Given the description of an element on the screen output the (x, y) to click on. 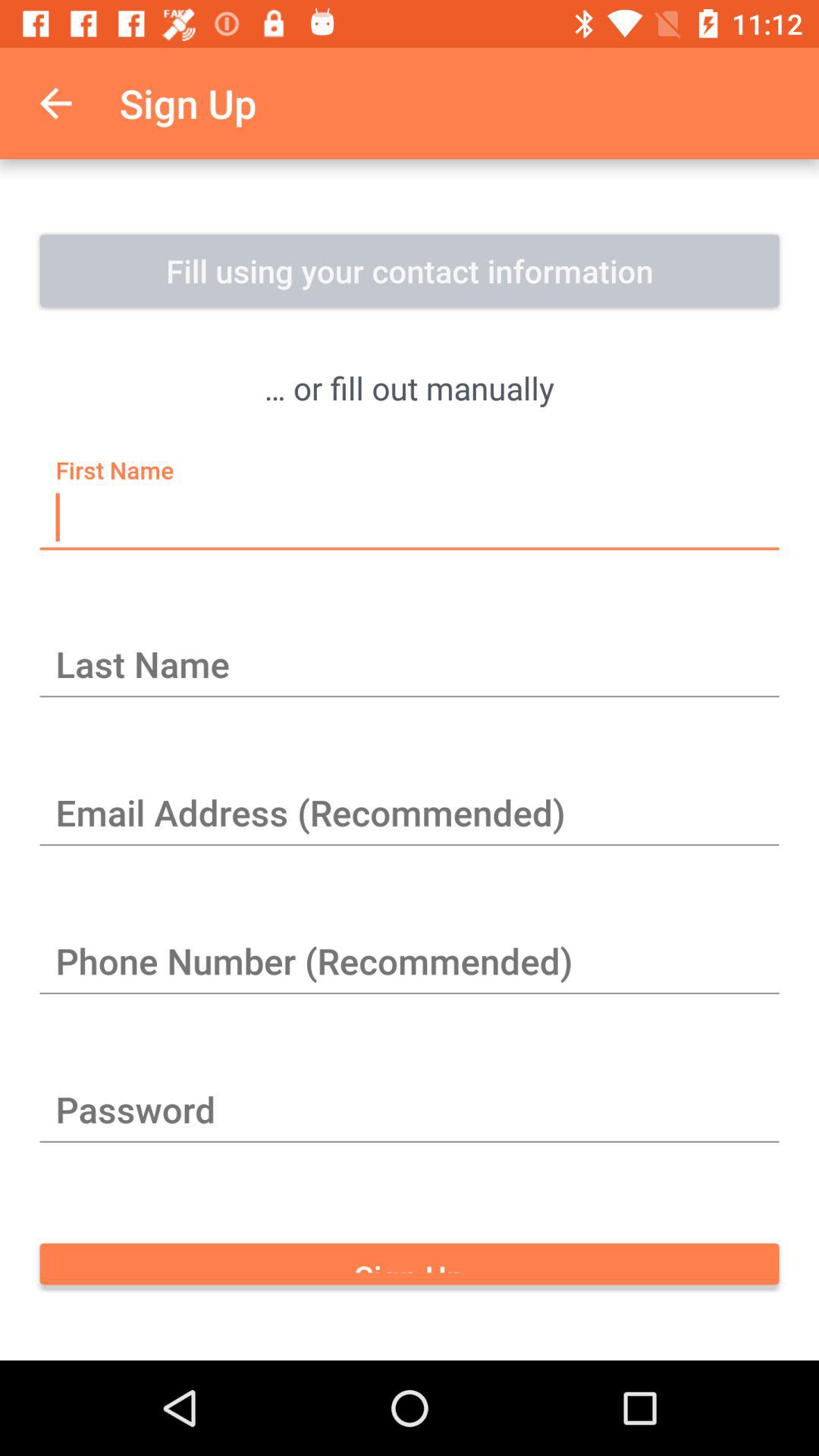
open the item above the fill using your icon (55, 103)
